Given the description of an element on the screen output the (x, y) to click on. 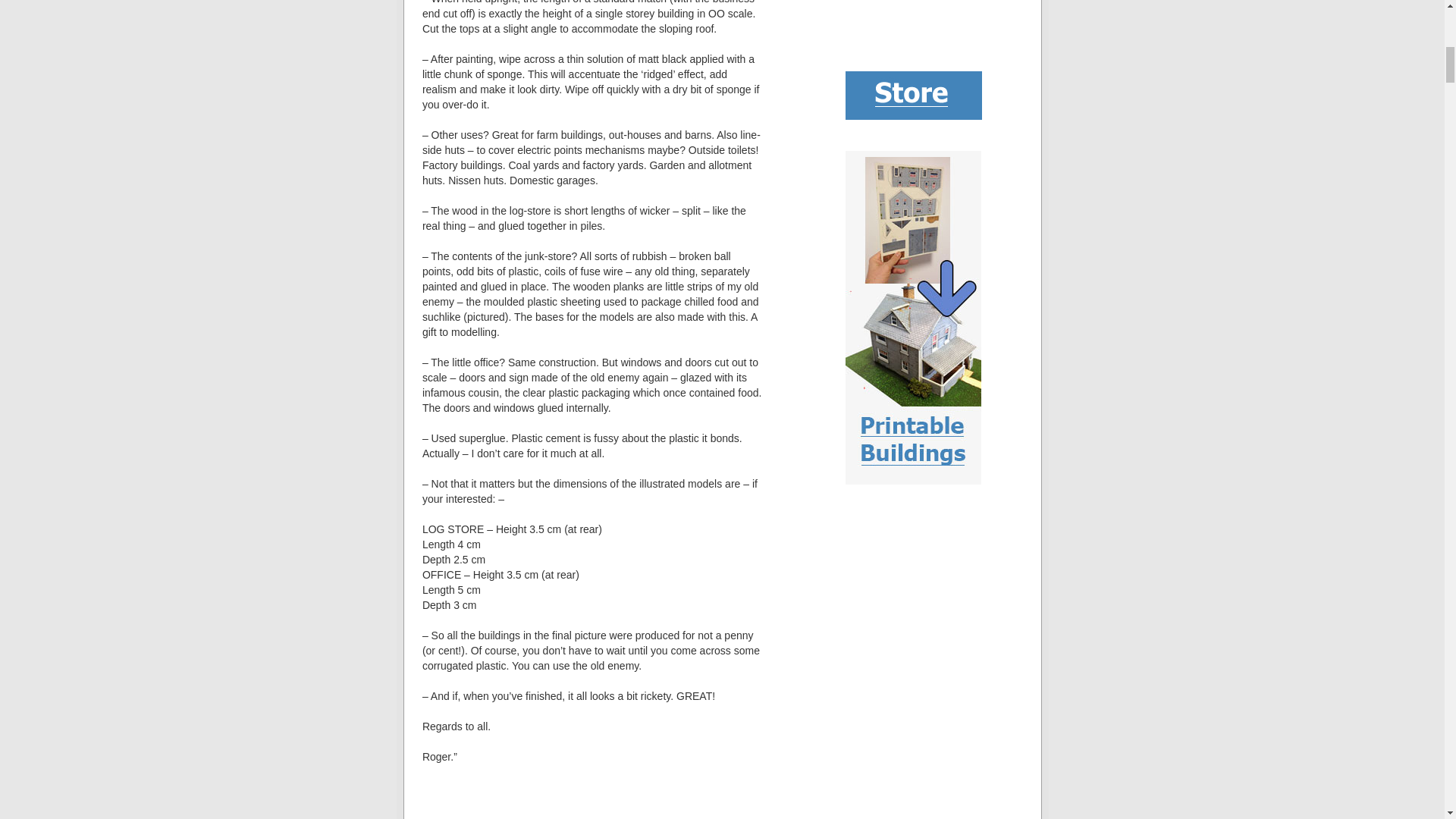
Advertisement (921, 20)
Corrugated Iron (592, 799)
